Given the description of an element on the screen output the (x, y) to click on. 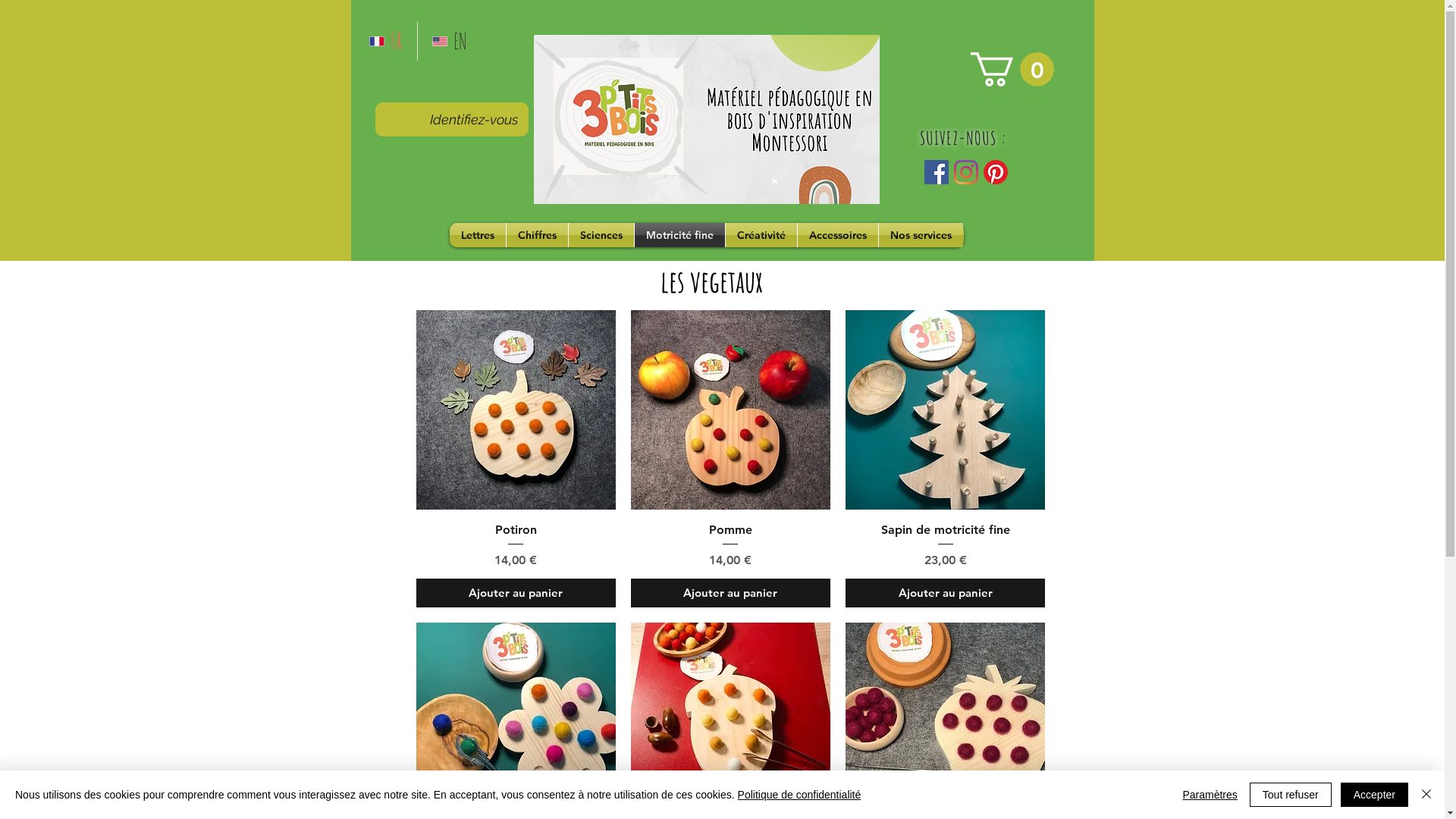
Chiffres Element type: text (536, 234)
Ajouter au panier Element type: text (730, 593)
EN Element type: text (449, 40)
Sciences Element type: text (600, 234)
Accepter Element type: text (1374, 794)
Tout refuser Element type: text (1290, 794)
Nos services Element type: text (920, 234)
Lettres Element type: text (476, 234)
Accessoires Element type: text (837, 234)
0 Element type: text (1012, 69)
Identifiez-vous Element type: text (472, 119)
Ajouter au panier Element type: text (515, 593)
FR Element type: text (385, 40)
Ajouter au panier Element type: text (944, 593)
